Given the description of an element on the screen output the (x, y) to click on. 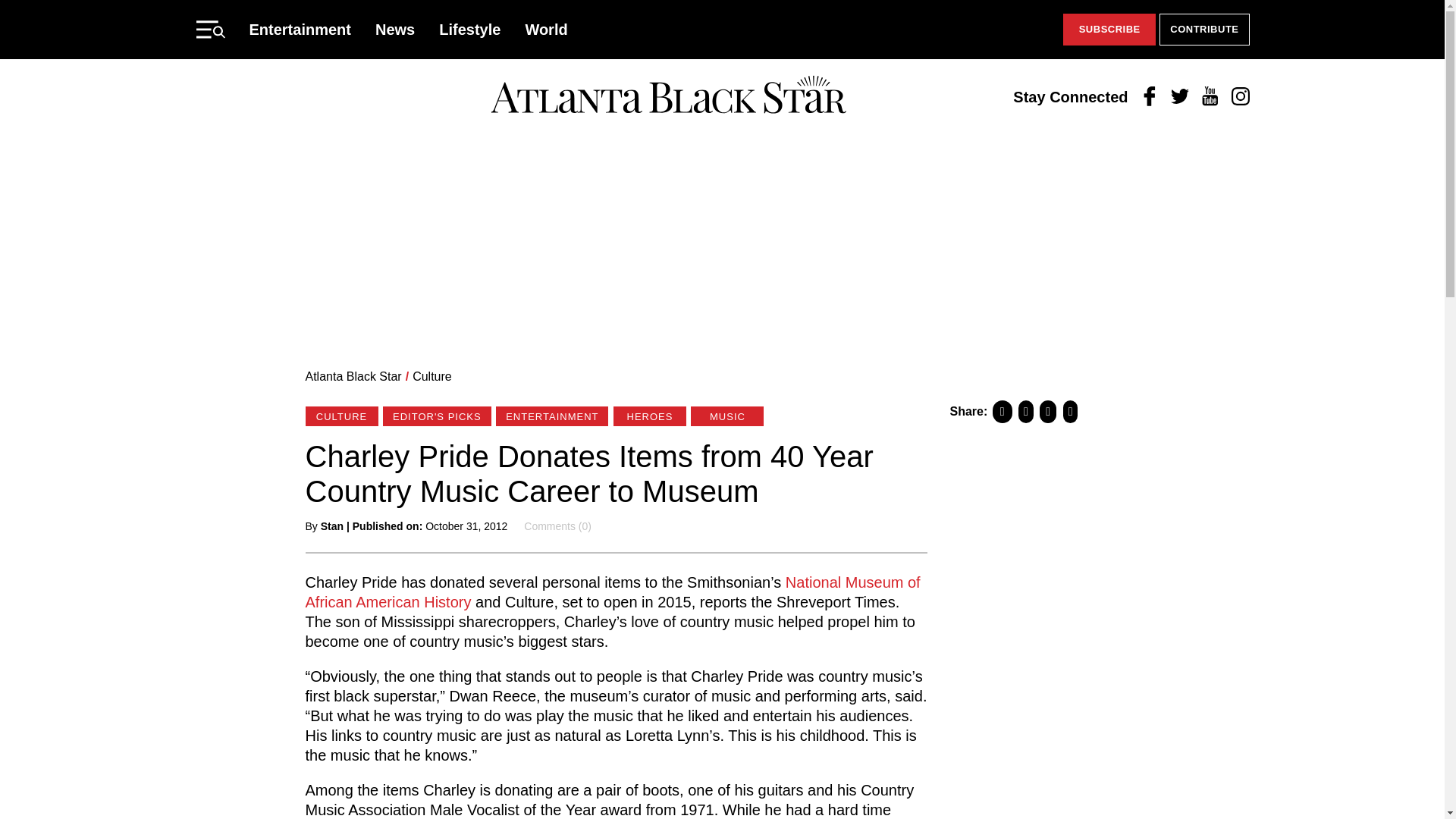
CULTURE (340, 415)
Culture (431, 376)
News (394, 29)
SUBSCRIBE (1109, 29)
CONTRIBUTE (1203, 29)
World (545, 29)
Go to the Culture Category archives. (431, 376)
Atlanta Black Star (352, 376)
ENTERTAINMENT (552, 415)
EDITOR'S PICKS (437, 415)
